Given the description of an element on the screen output the (x, y) to click on. 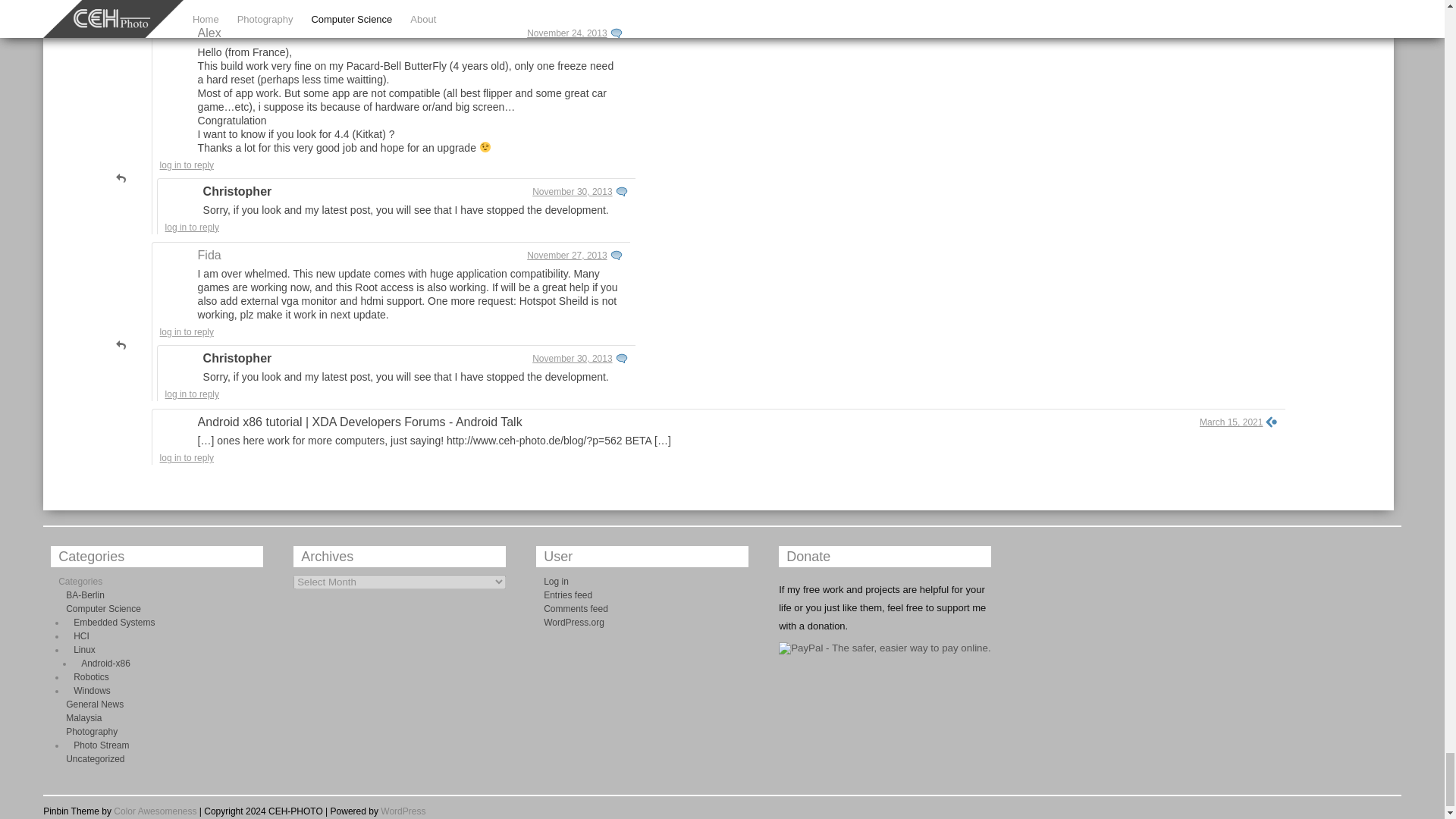
Powered by WordPress (402, 810)
Color Awesomeness (154, 810)
